Given the description of an element on the screen output the (x, y) to click on. 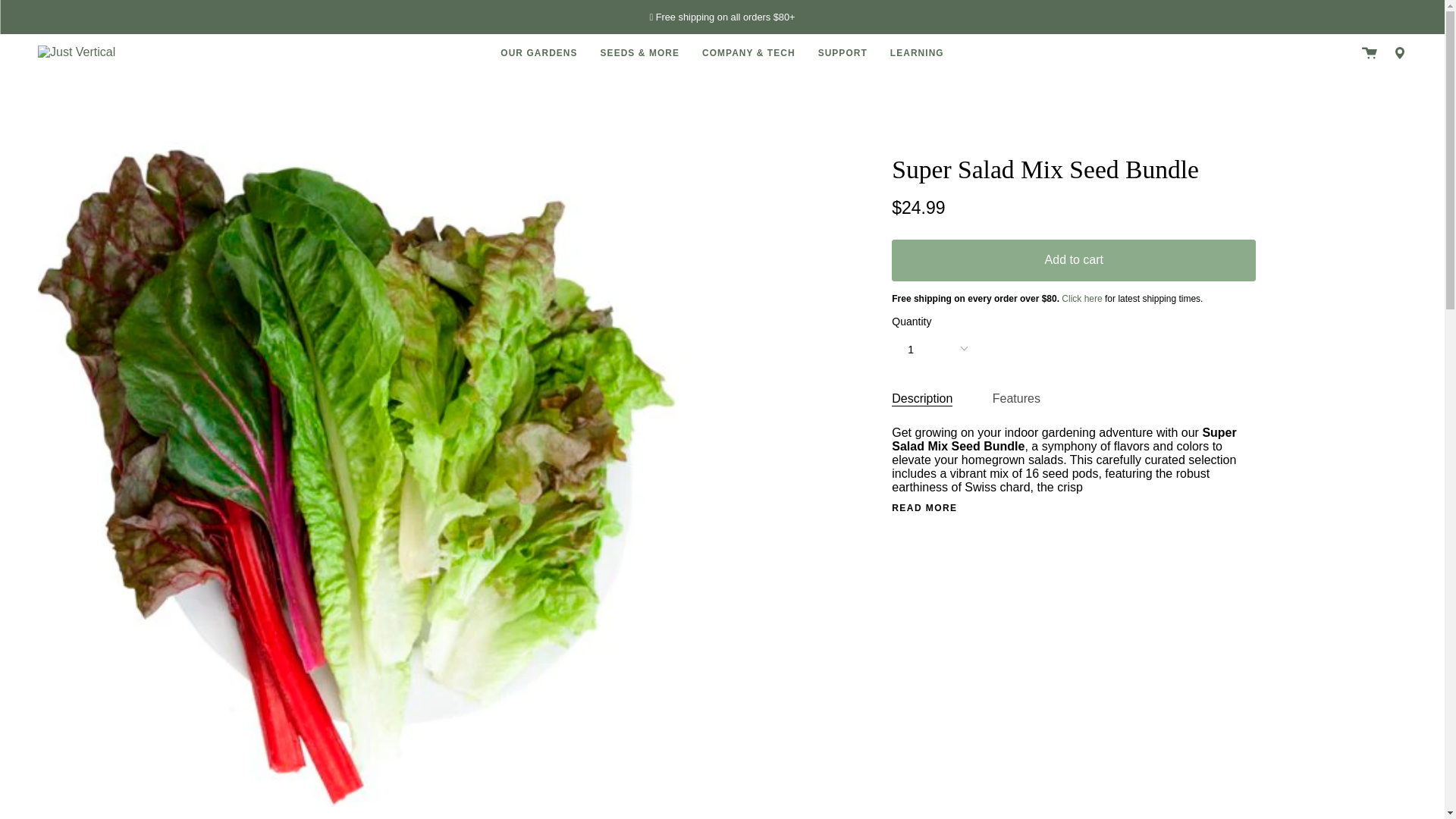
LEARNING (917, 53)
OUR GARDENS (538, 53)
SUPPORT (842, 53)
